Given the description of an element on the screen output the (x, y) to click on. 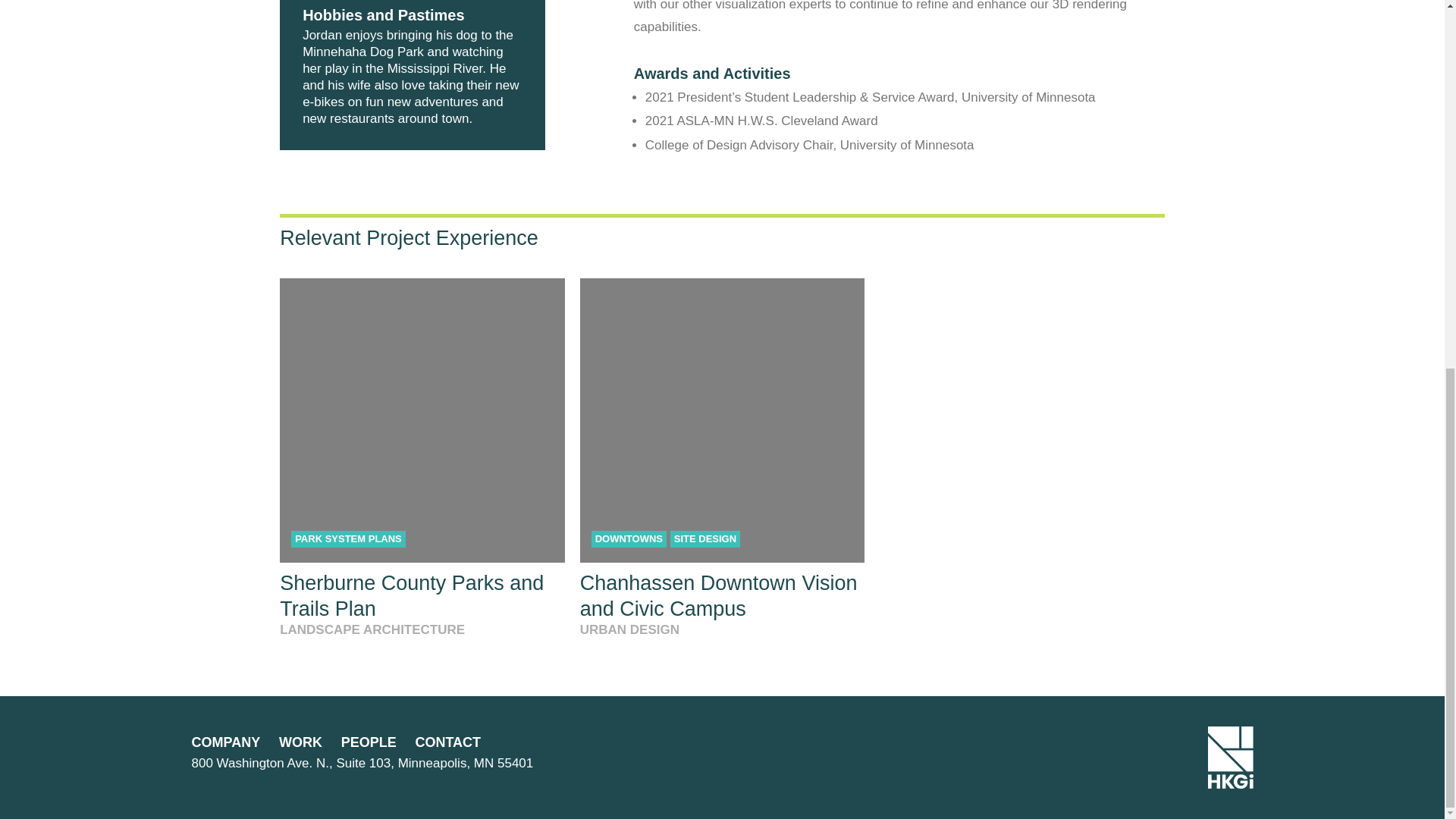
WORK (300, 742)
CONTACT (447, 742)
COMPANY (225, 742)
PEOPLE (368, 742)
